Given the description of an element on the screen output the (x, y) to click on. 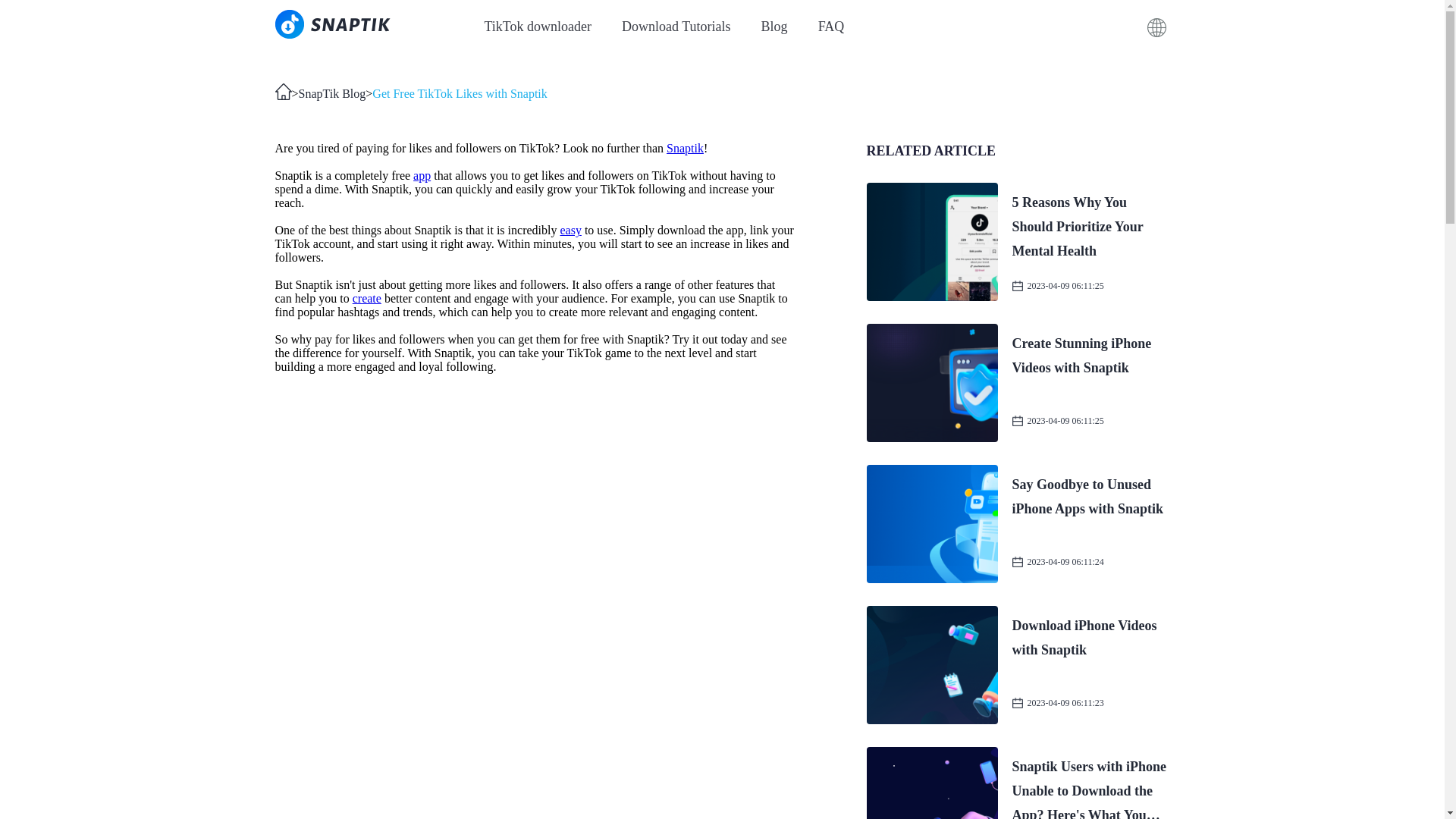
Download Tutorials (1017, 664)
TikTok downloader (675, 26)
Blog (537, 26)
Get Free TikTok Likes with Snaptik (774, 26)
create (459, 93)
FAQ (366, 297)
Snaptik (831, 26)
